Given the description of an element on the screen output the (x, y) to click on. 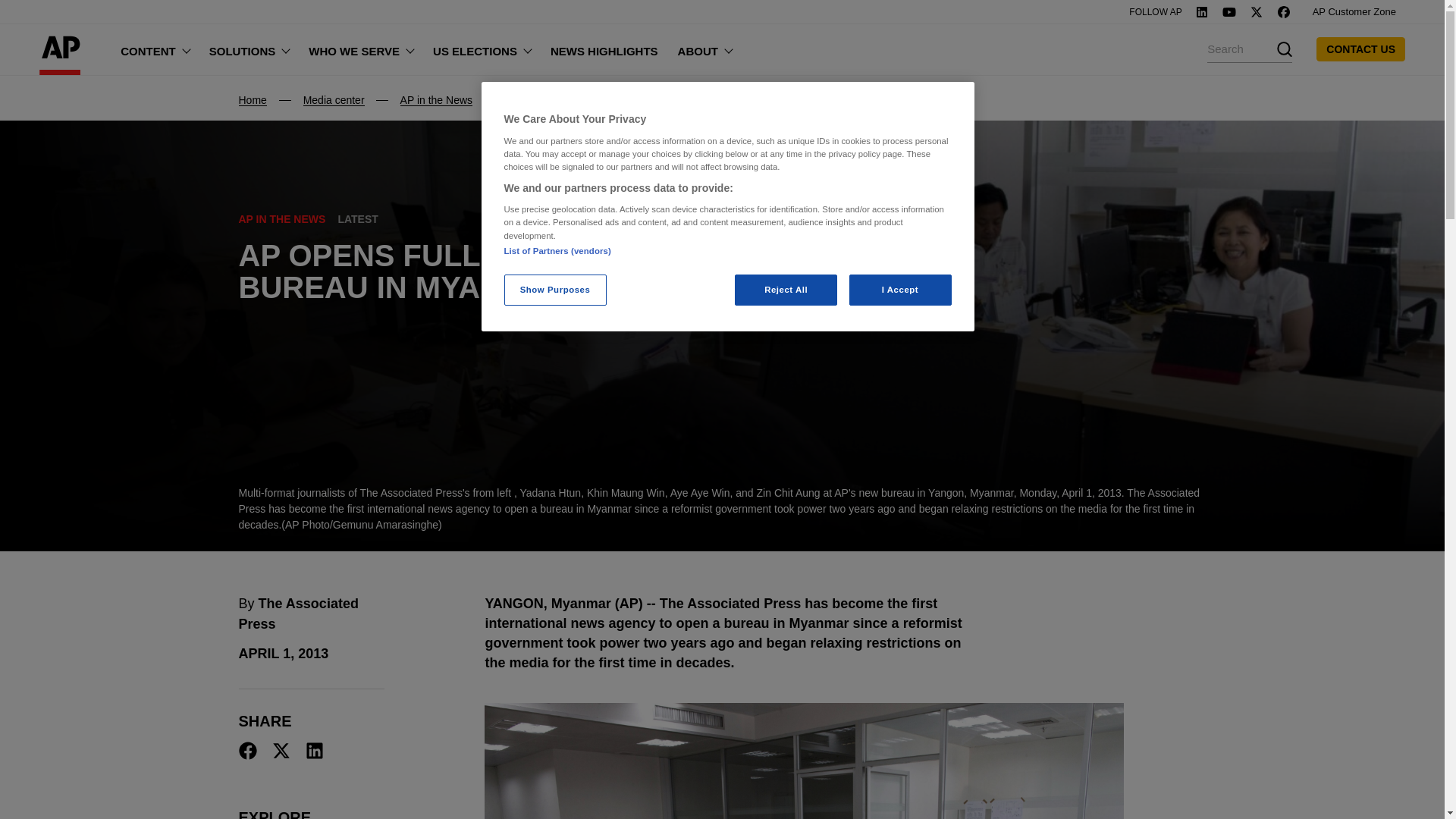
Share on Twitter (279, 751)
Youtube (1228, 11)
Share on LinkedIn (313, 751)
Facebook (1283, 11)
SOLUTIONS (249, 49)
AP Customer Zone (1354, 11)
CONTENT (154, 49)
Share on Facebook (247, 751)
Linkedin (1201, 11)
Twitter (1256, 11)
